Given the description of an element on the screen output the (x, y) to click on. 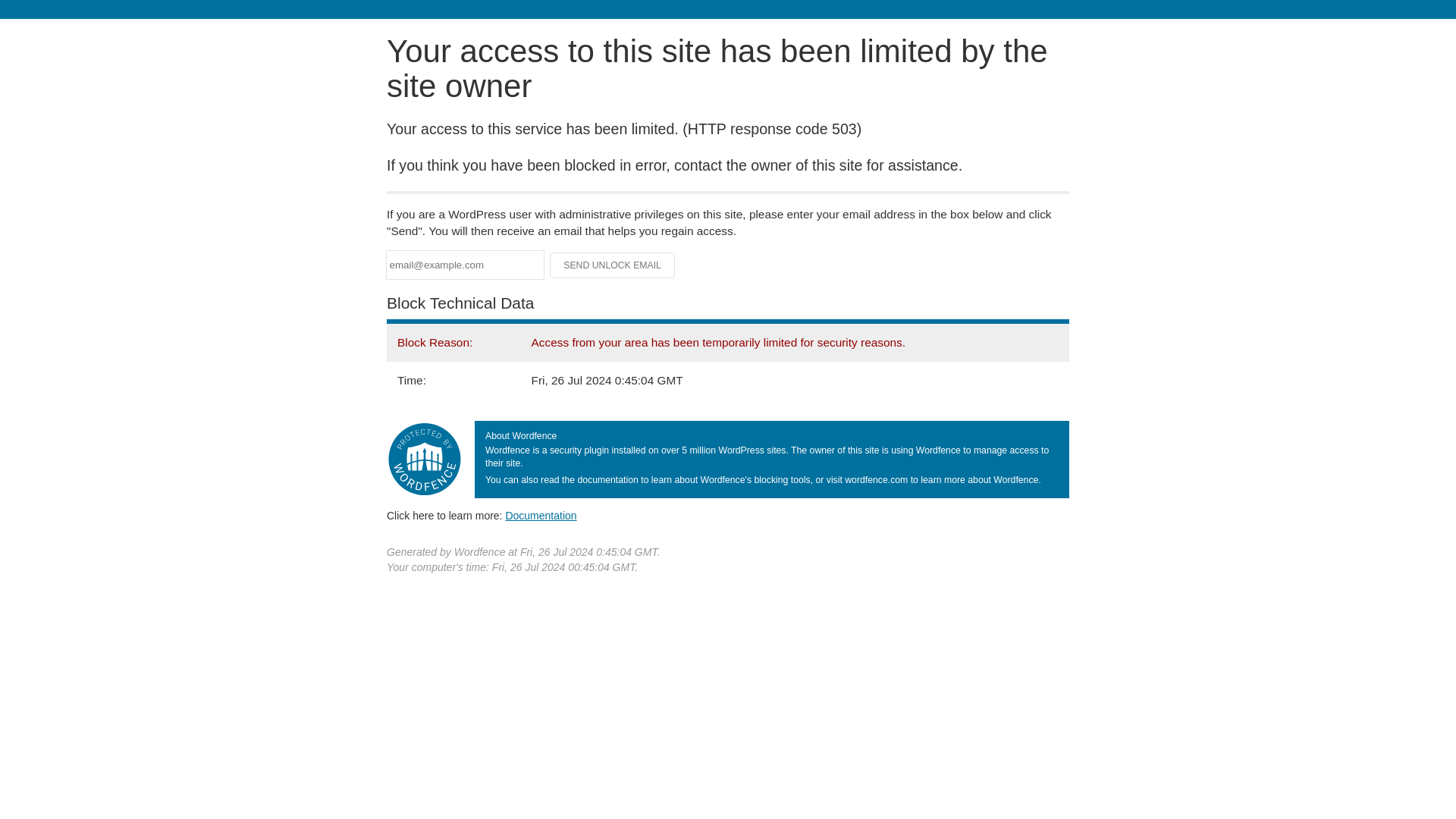
Send Unlock Email (612, 265)
Documentation (540, 515)
Send Unlock Email (612, 265)
